Given the description of an element on the screen output the (x, y) to click on. 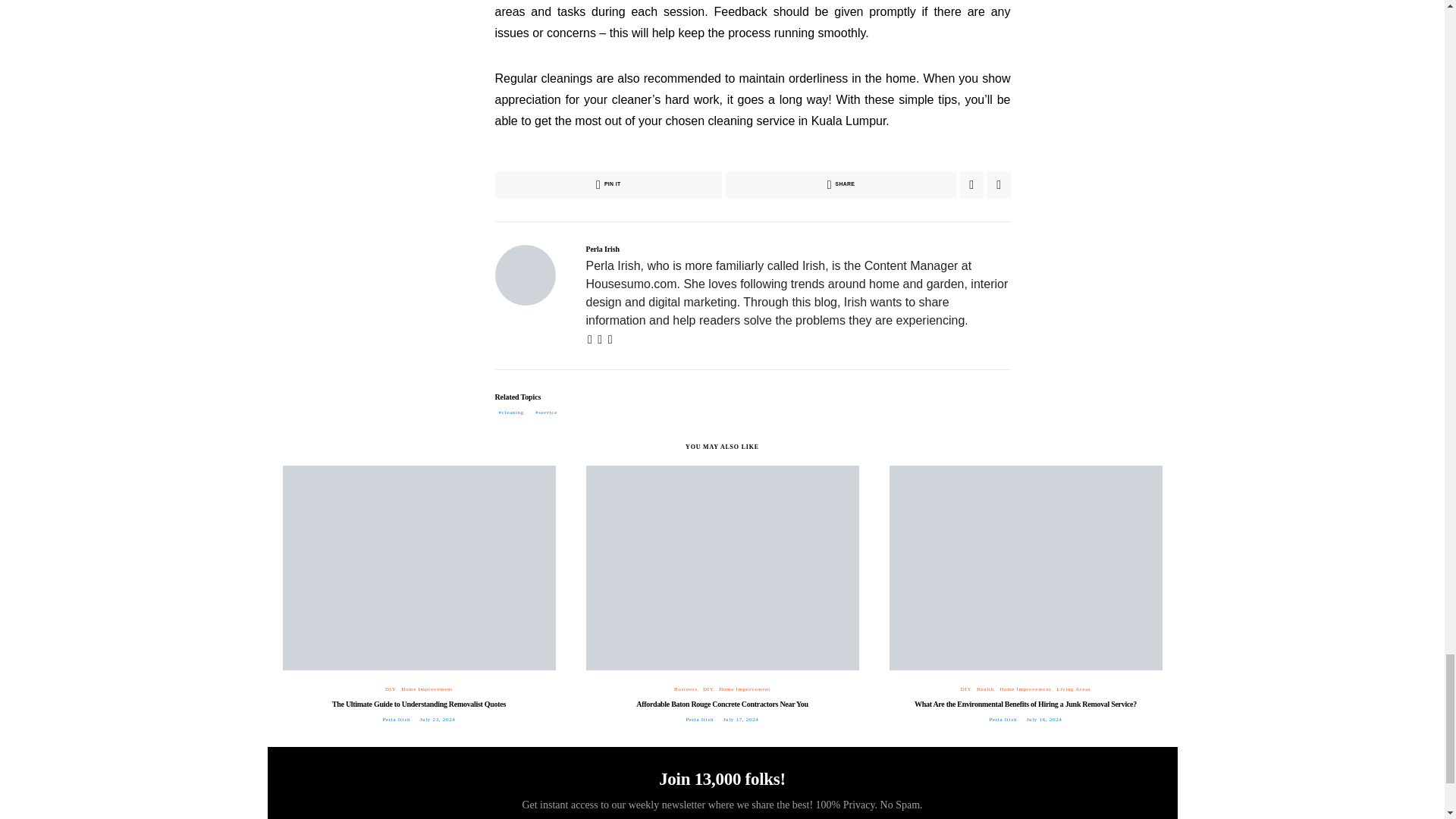
View all posts by Perla Irish (395, 719)
View all posts by Perla Irish (699, 719)
View all posts by Perla Irish (1002, 719)
